Given the description of an element on the screen output the (x, y) to click on. 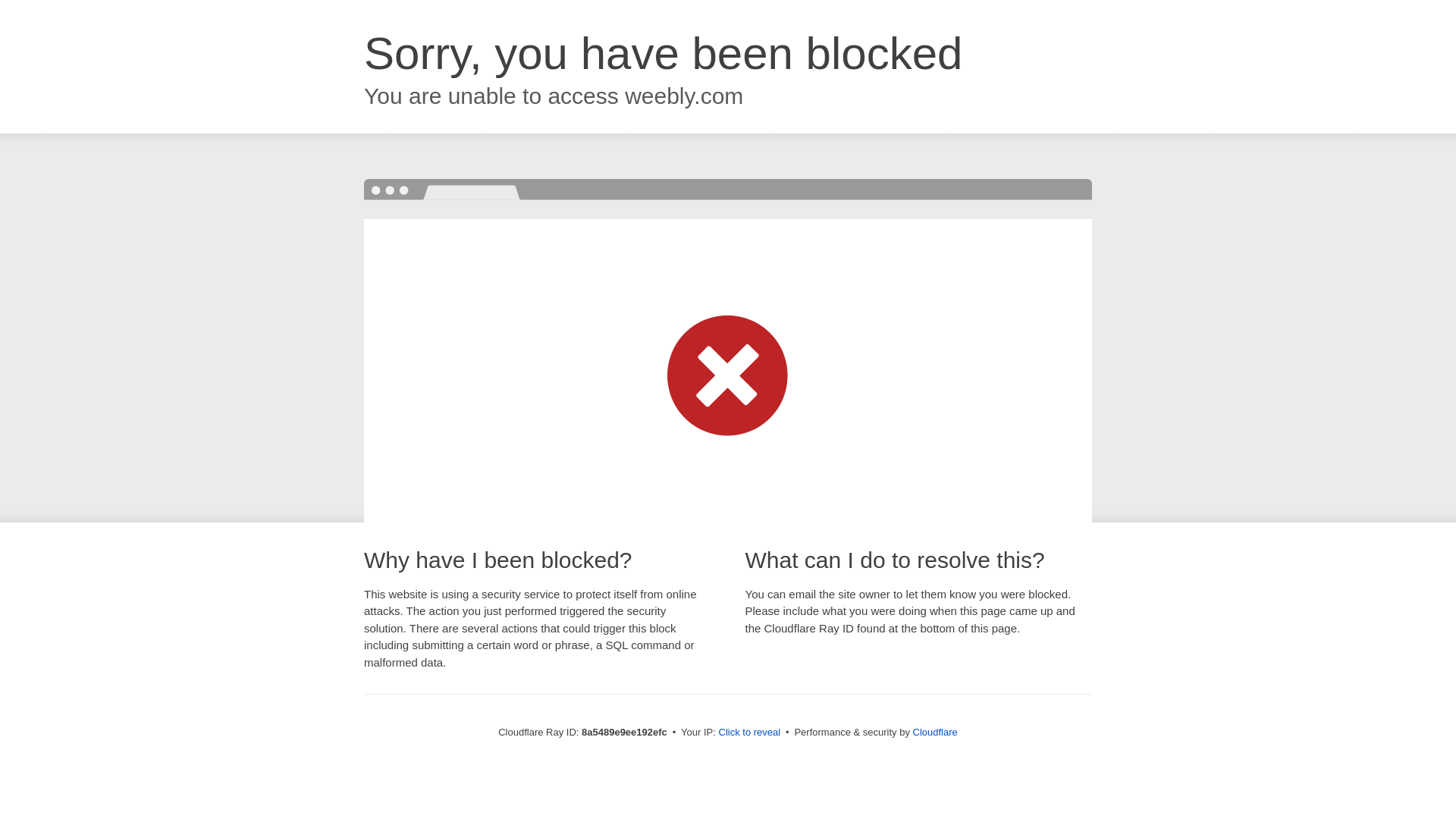
Cloudflare (935, 731)
Click to reveal (749, 732)
